Given the description of an element on the screen output the (x, y) to click on. 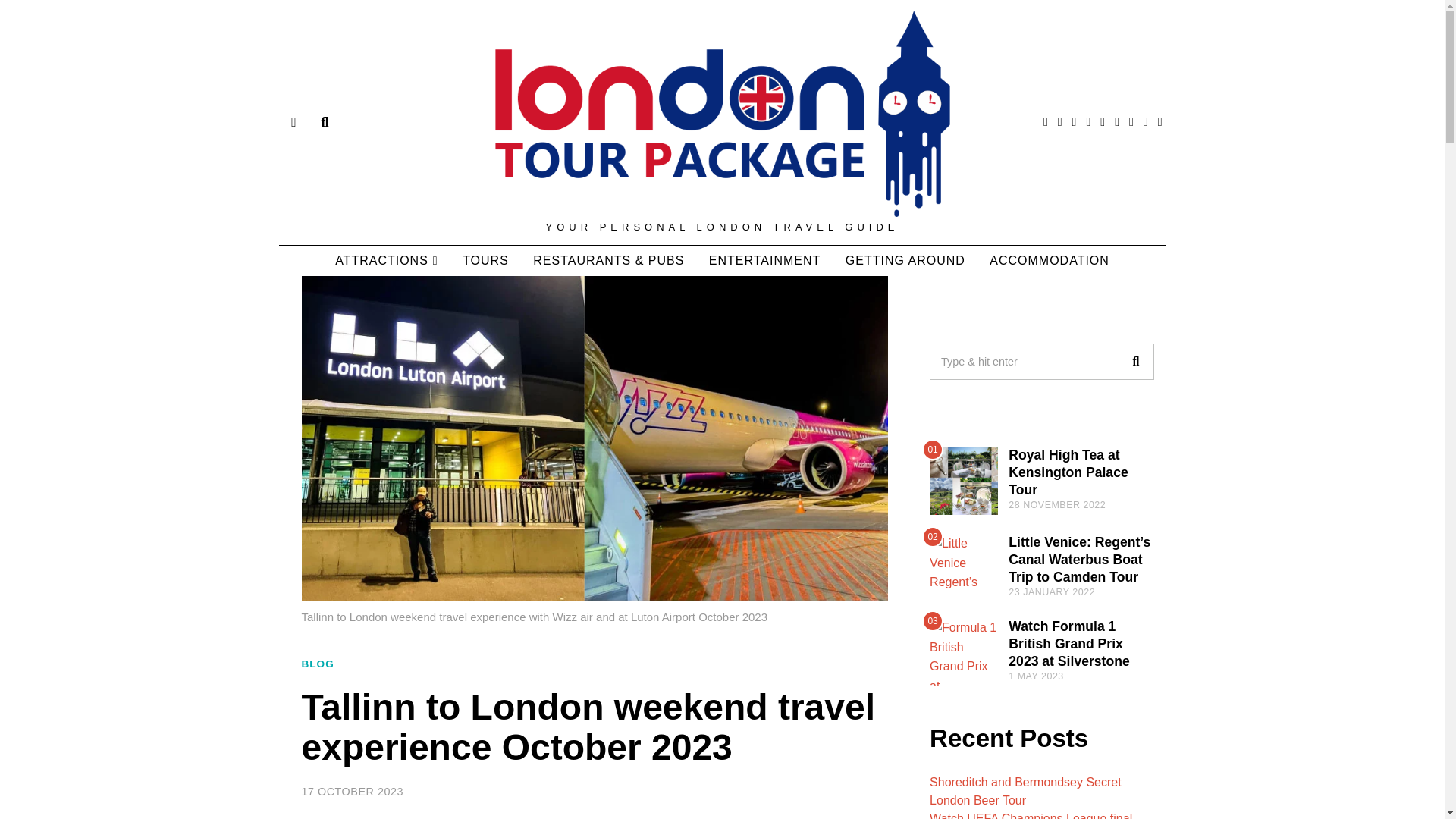
BLOG (317, 664)
ACCOMMODATION (1048, 260)
GETTING AROUND (904, 260)
TOURS (485, 260)
ATTRACTIONS (386, 260)
ENTERTAINMENT (764, 260)
